Given the description of an element on the screen output the (x, y) to click on. 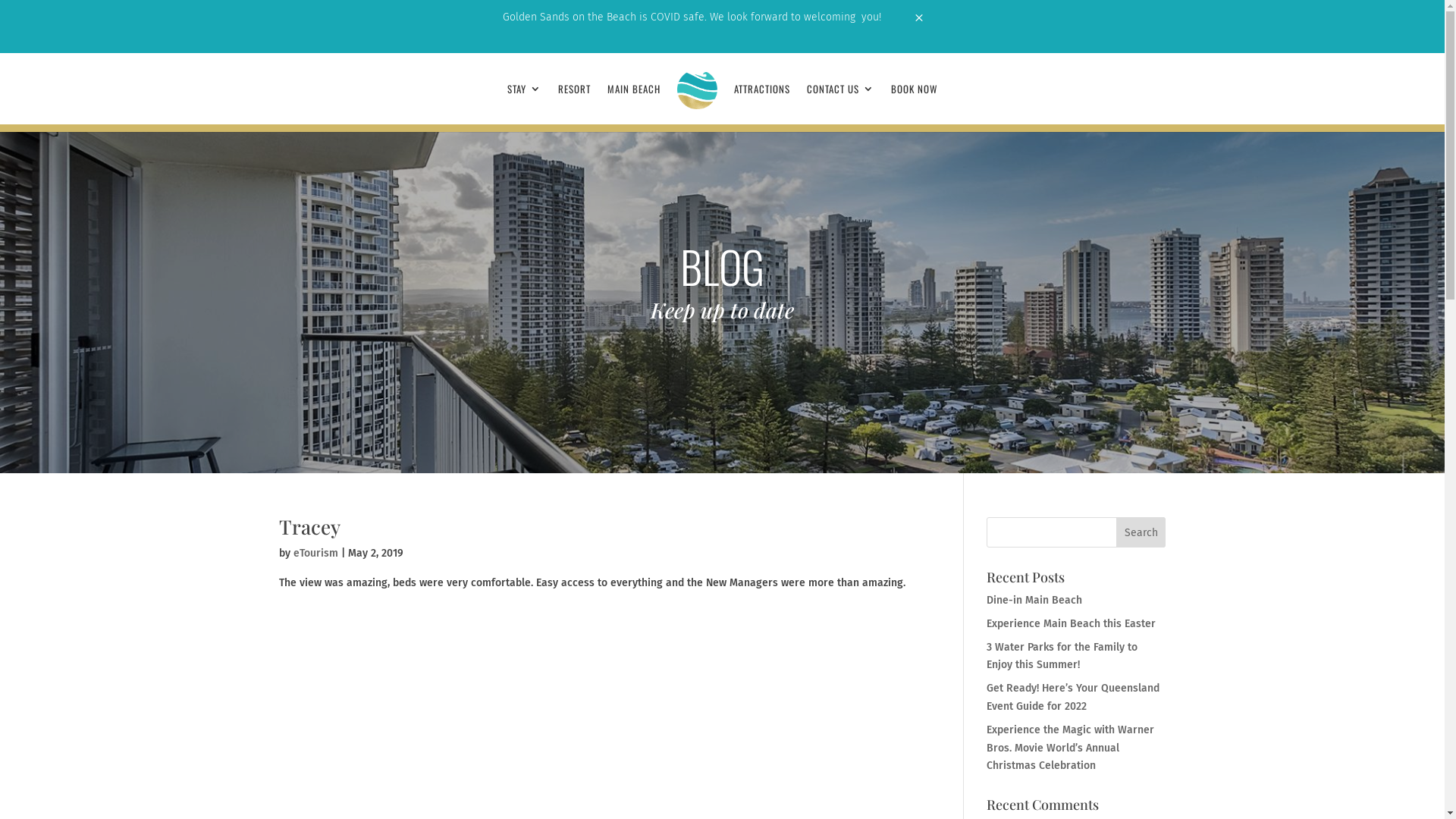
eTourism Element type: text (314, 552)
STAY Element type: text (524, 103)
ATTRACTIONS Element type: text (762, 103)
Dine-in Main Beach Element type: text (1034, 599)
Tracey Element type: text (309, 526)
MAIN BEACH Element type: text (633, 103)
Search Element type: text (1141, 532)
CONTACT US Element type: text (840, 103)
M Element type: text (918, 17)
Experience Main Beach this Easter Element type: text (1070, 623)
RESORT Element type: text (574, 103)
BOOK NOW Element type: text (914, 103)
3 Water Parks for the Family to Enjoy this Summer! Element type: text (1061, 655)
